Given the description of an element on the screen output the (x, y) to click on. 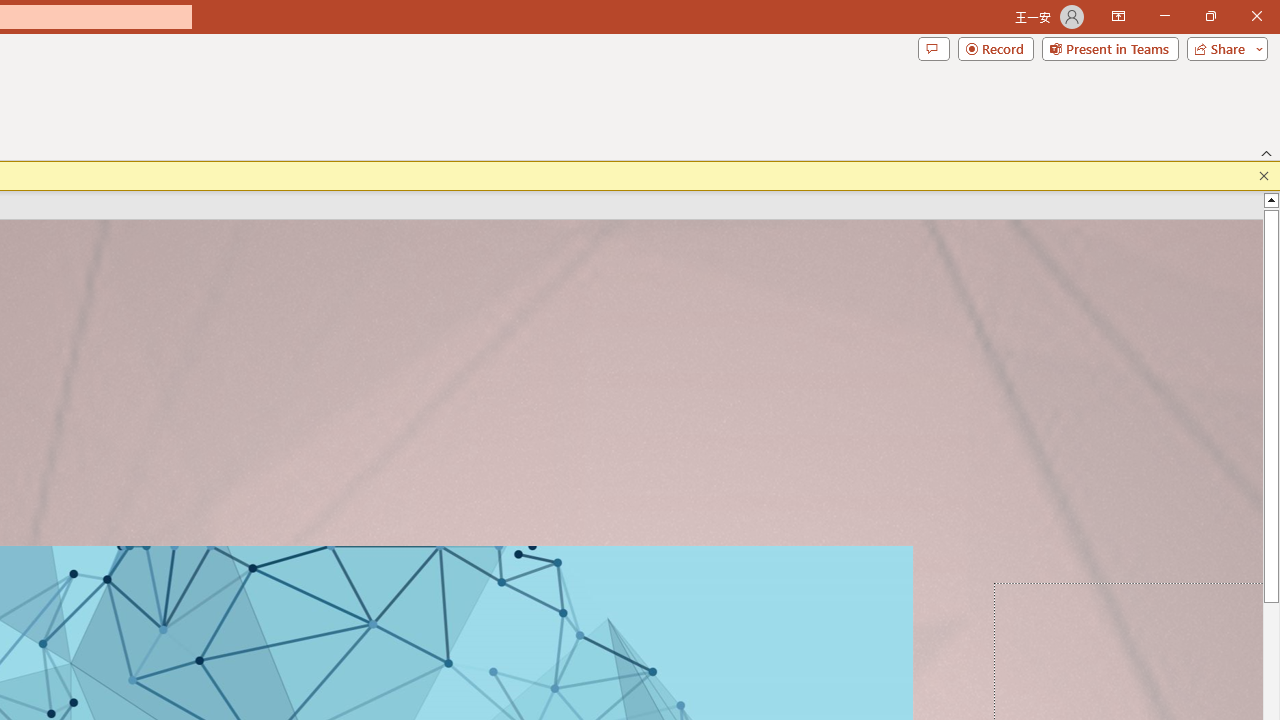
Close this message (1263, 176)
